Given the description of an element on the screen output the (x, y) to click on. 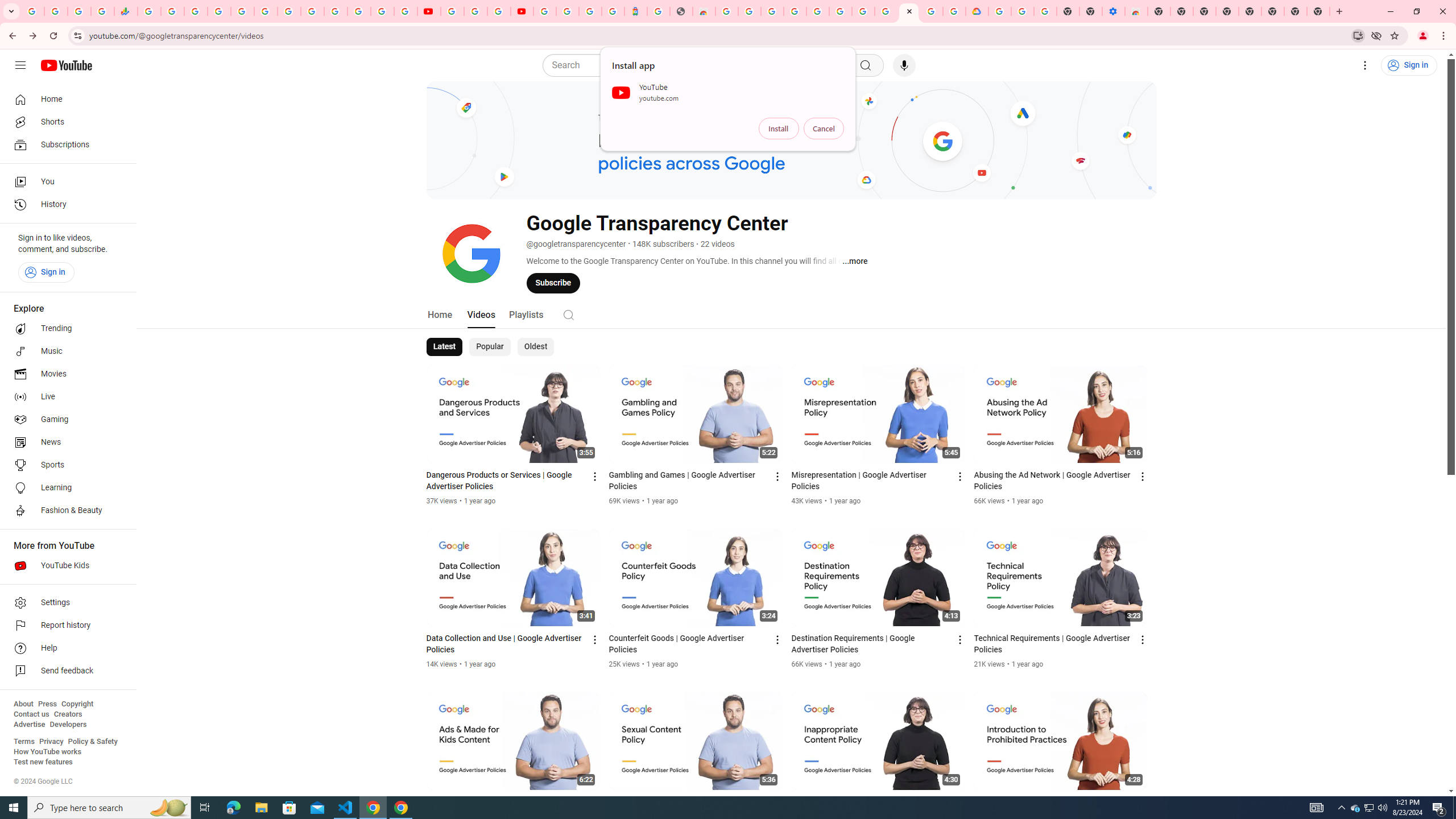
Android TV Policies and Guidelines - Transparency Center (288, 11)
Subscriptions (64, 144)
Learning (64, 487)
Test new features (42, 761)
Install (778, 128)
